Given the description of an element on the screen output the (x, y) to click on. 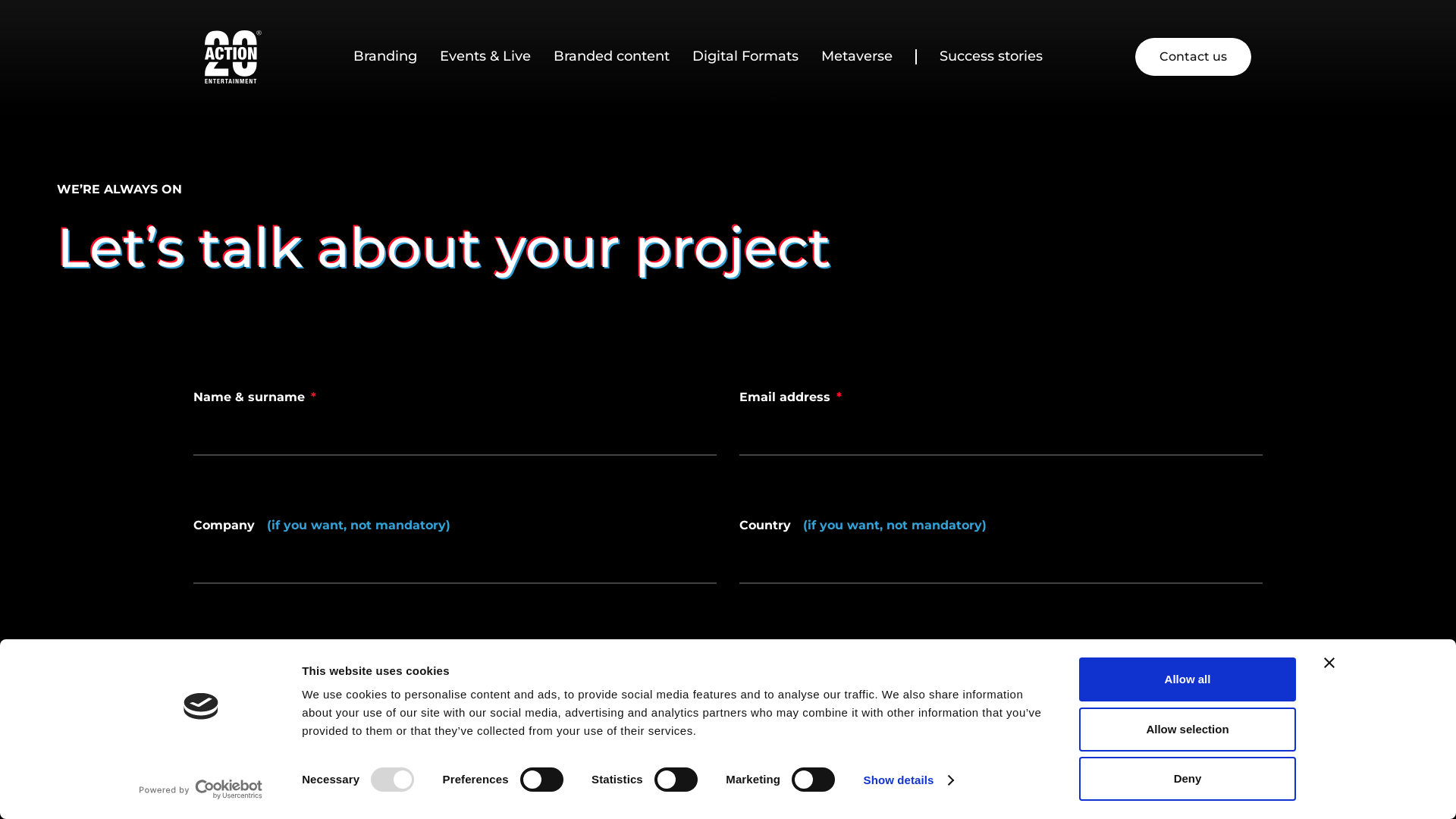
Branded content Element type: text (611, 56)
Allow selection Element type: text (1187, 728)
Contact us
Get in touch Element type: text (1193, 56)
Metaverse Element type: text (855, 56)
Allow all Element type: text (1187, 679)
Branding Element type: text (385, 56)
Success stories Element type: text (989, 56)
Deny Element type: text (1187, 778)
Show details Element type: text (908, 779)
Events & Live Element type: text (484, 56)
Digital Formats Element type: text (744, 56)
